Given the description of an element on the screen output the (x, y) to click on. 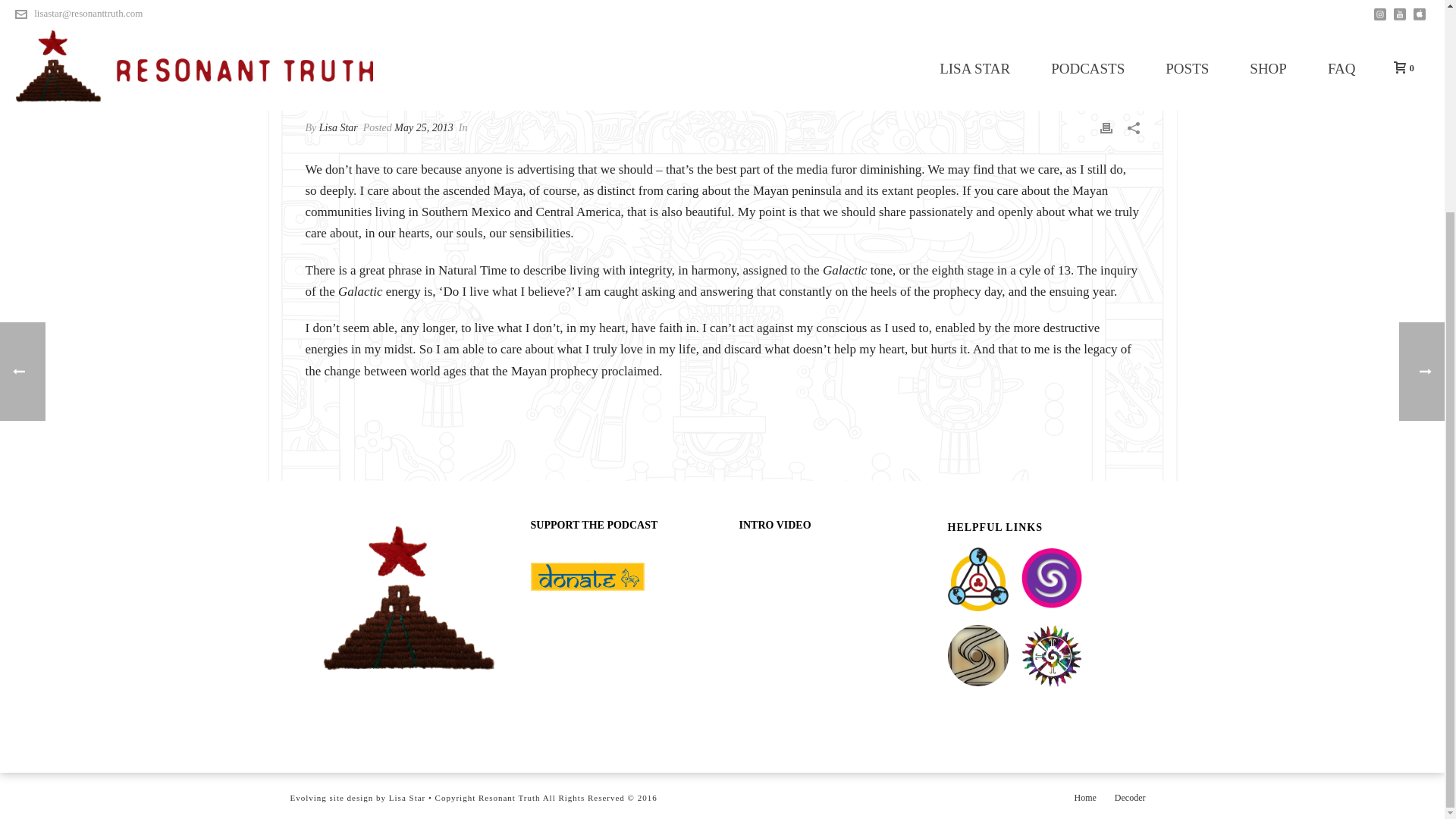
Foundation for the Law of Time (978, 578)
Posts by Lisa Star (338, 127)
Introduction to the Natural Time Podcast with Lisa Star (826, 611)
Space Station Plaza (978, 655)
13 Moon (1050, 655)
Spotify Embed: Natural Time (618, 669)
galacticSpacebook (1050, 578)
